Given the description of an element on the screen output the (x, y) to click on. 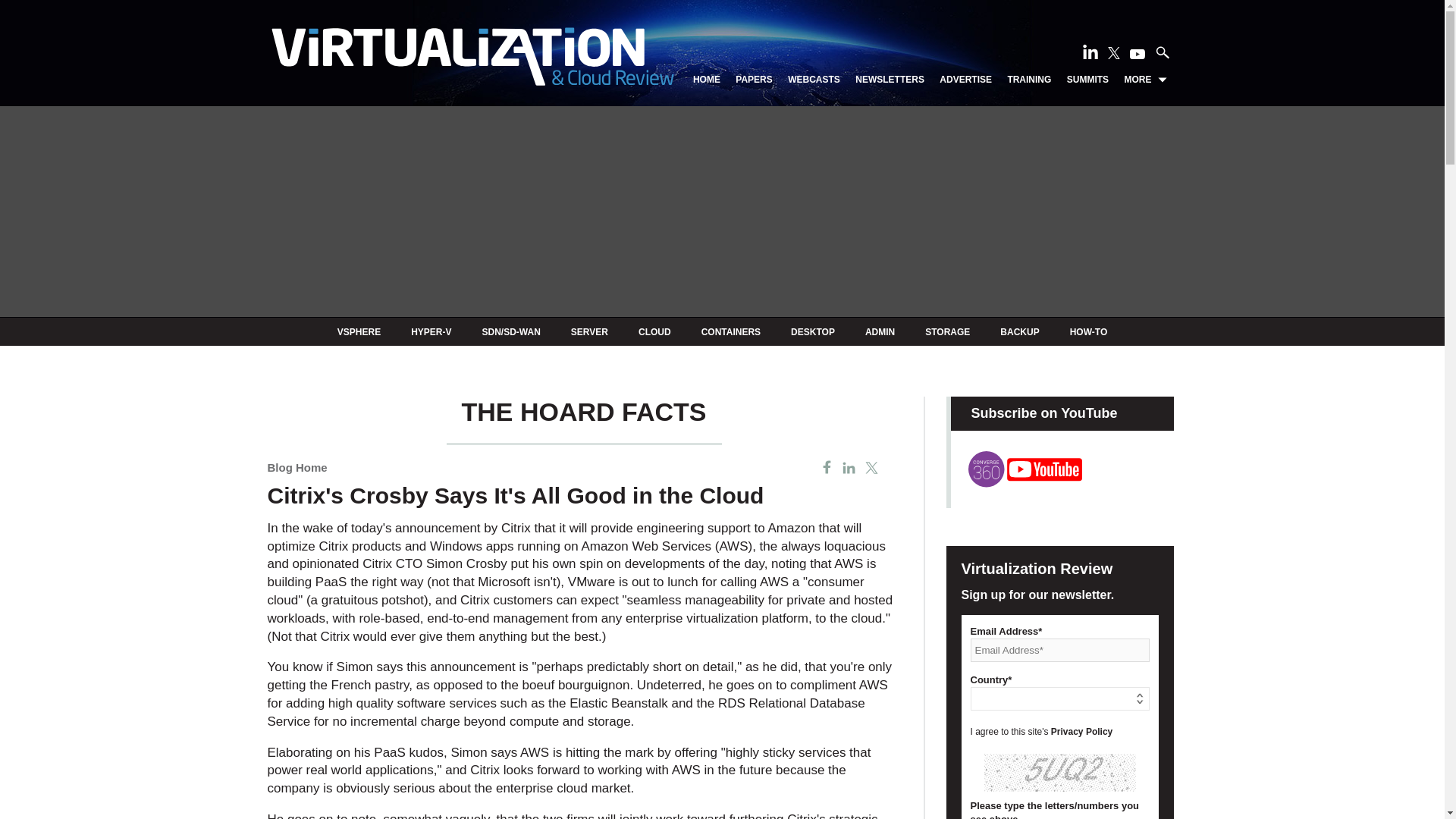
CLOUD (655, 331)
TRAINING (1029, 79)
SERVER (589, 331)
WEBCASTS (813, 79)
HOME (706, 79)
VSPHERE (358, 331)
NEWSLETTERS (890, 79)
HYPER-V (430, 331)
ADVERTISE (965, 79)
PAPERS (753, 79)
SUMMITS (1087, 79)
MORE (1145, 79)
